Given the description of an element on the screen output the (x, y) to click on. 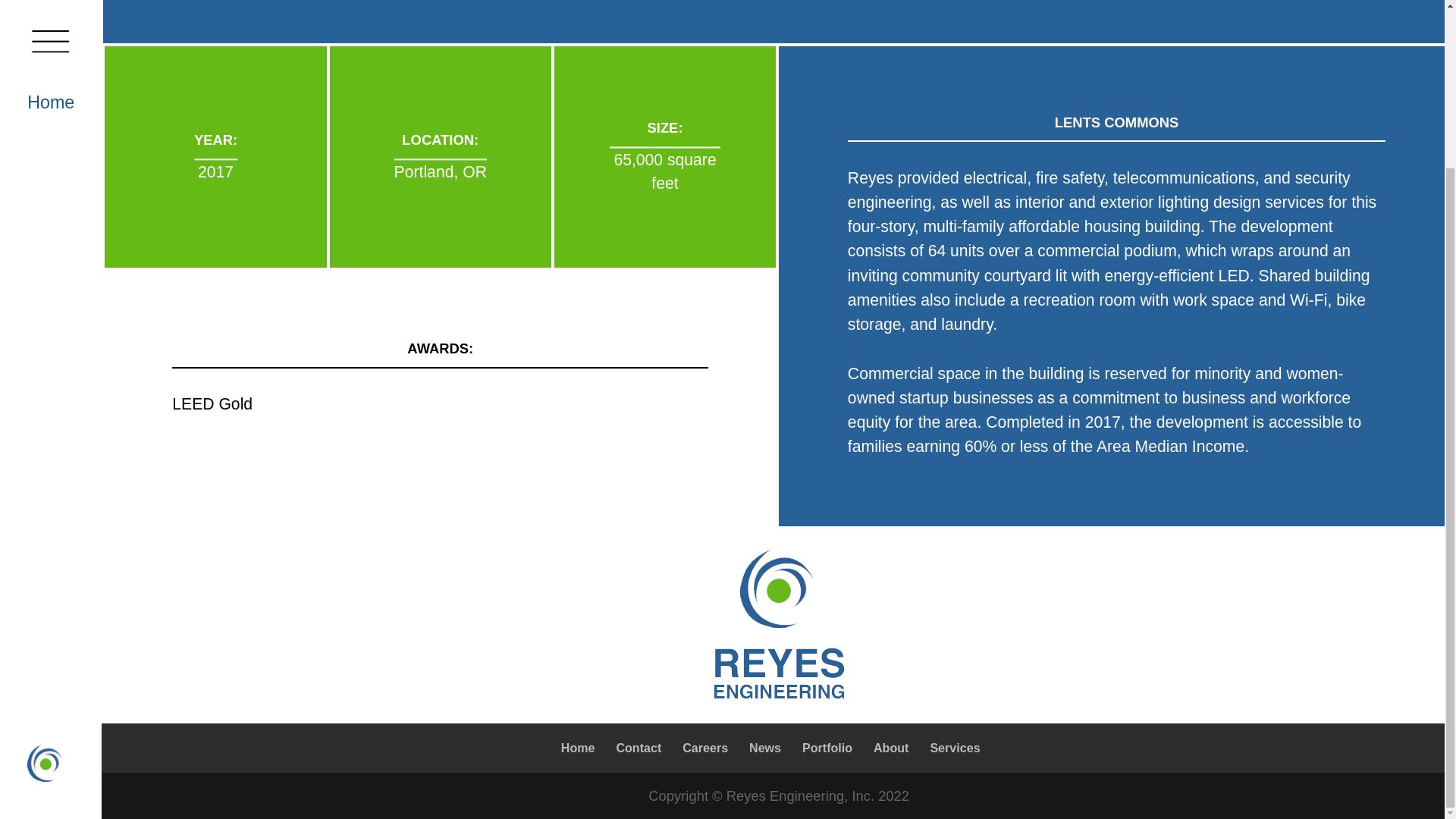
News (764, 747)
Services (954, 747)
Home (577, 747)
About (890, 747)
Contact (638, 747)
Careers (705, 747)
Portfolio (826, 747)
